Given the description of an element on the screen output the (x, y) to click on. 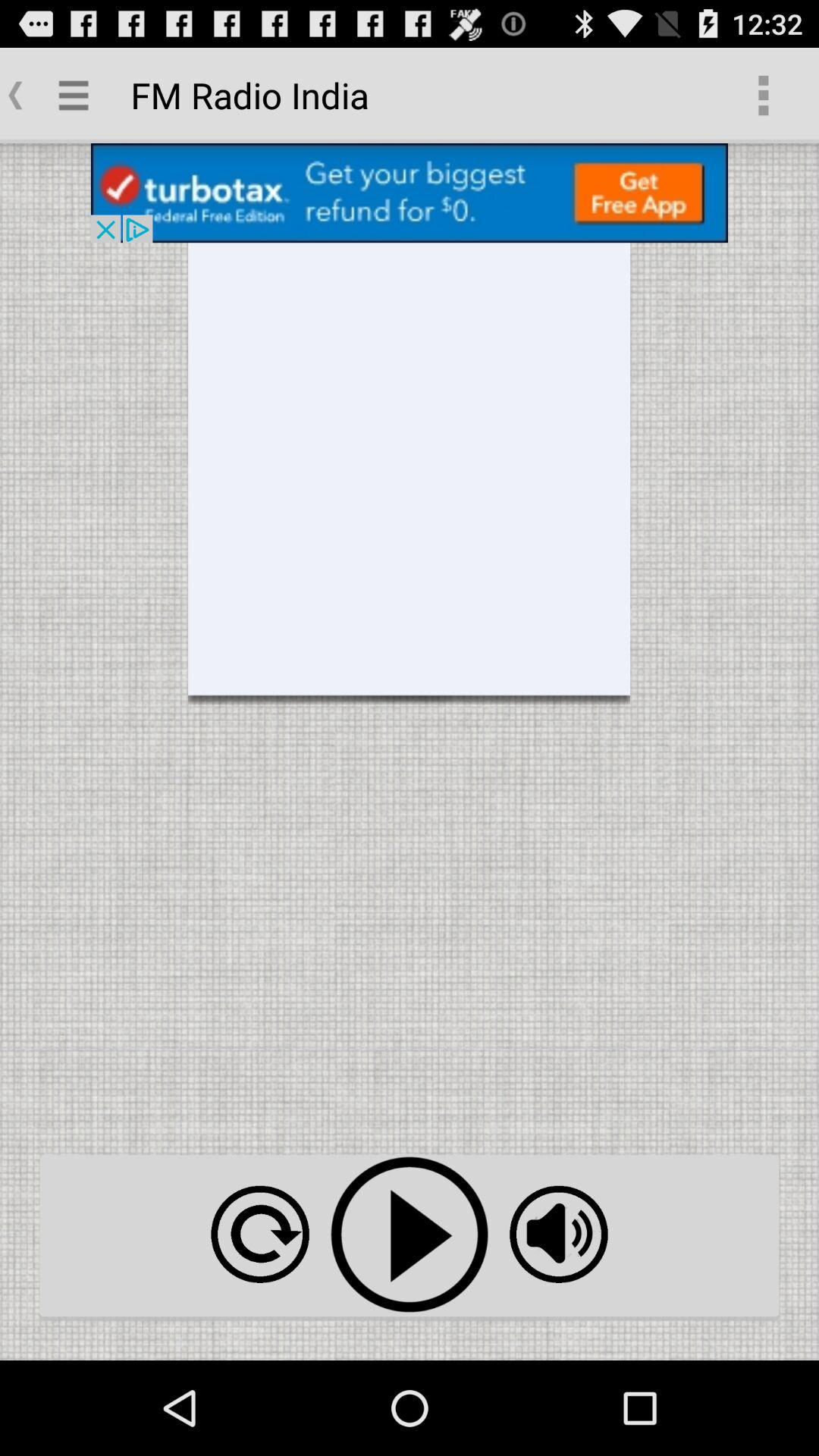
fast forward (259, 1234)
